Given the description of an element on the screen output the (x, y) to click on. 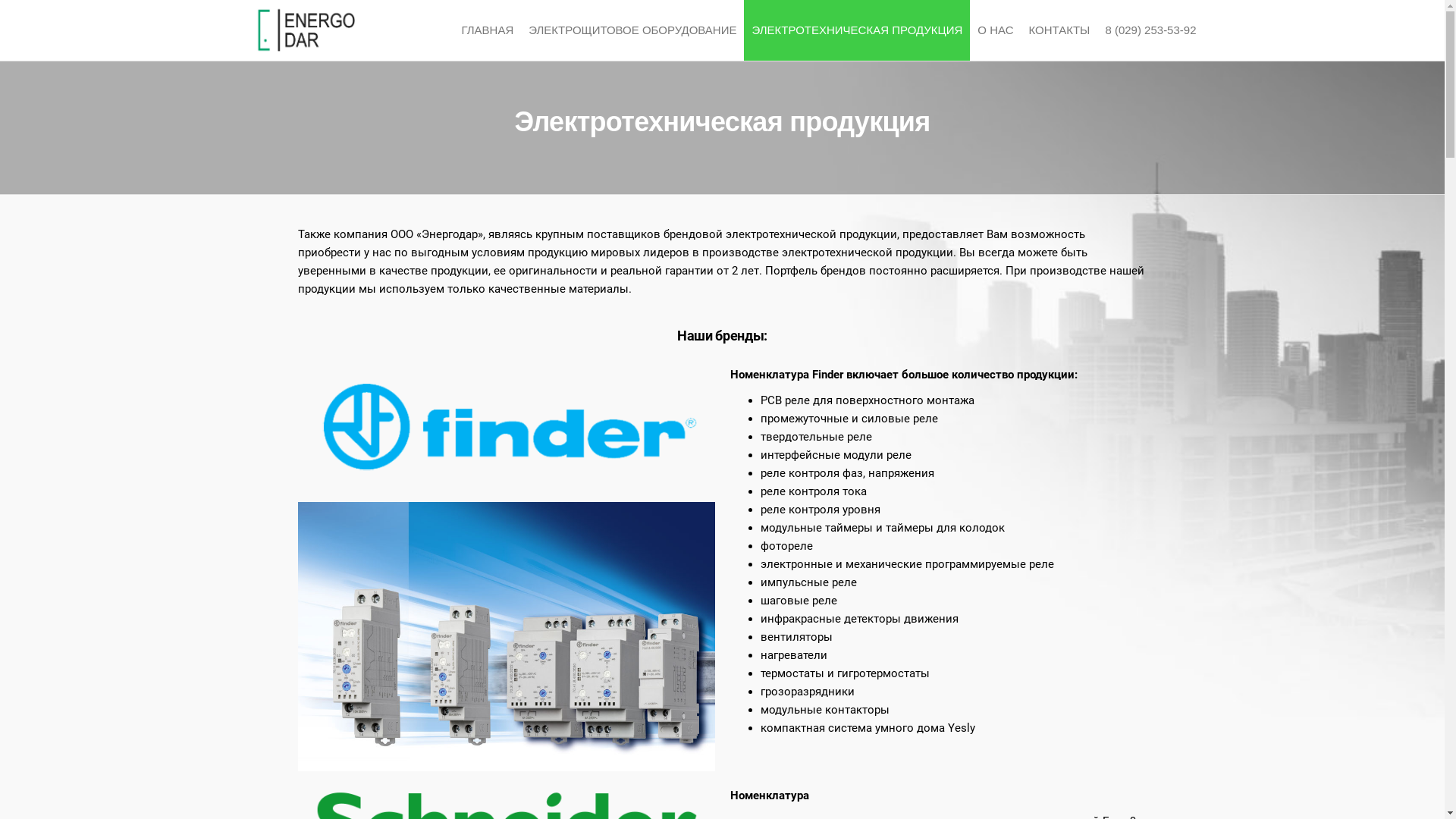
8 (029) 253-53-92 Element type: text (1150, 30)
Energodar Element type: text (421, 41)
